Given the description of an element on the screen output the (x, y) to click on. 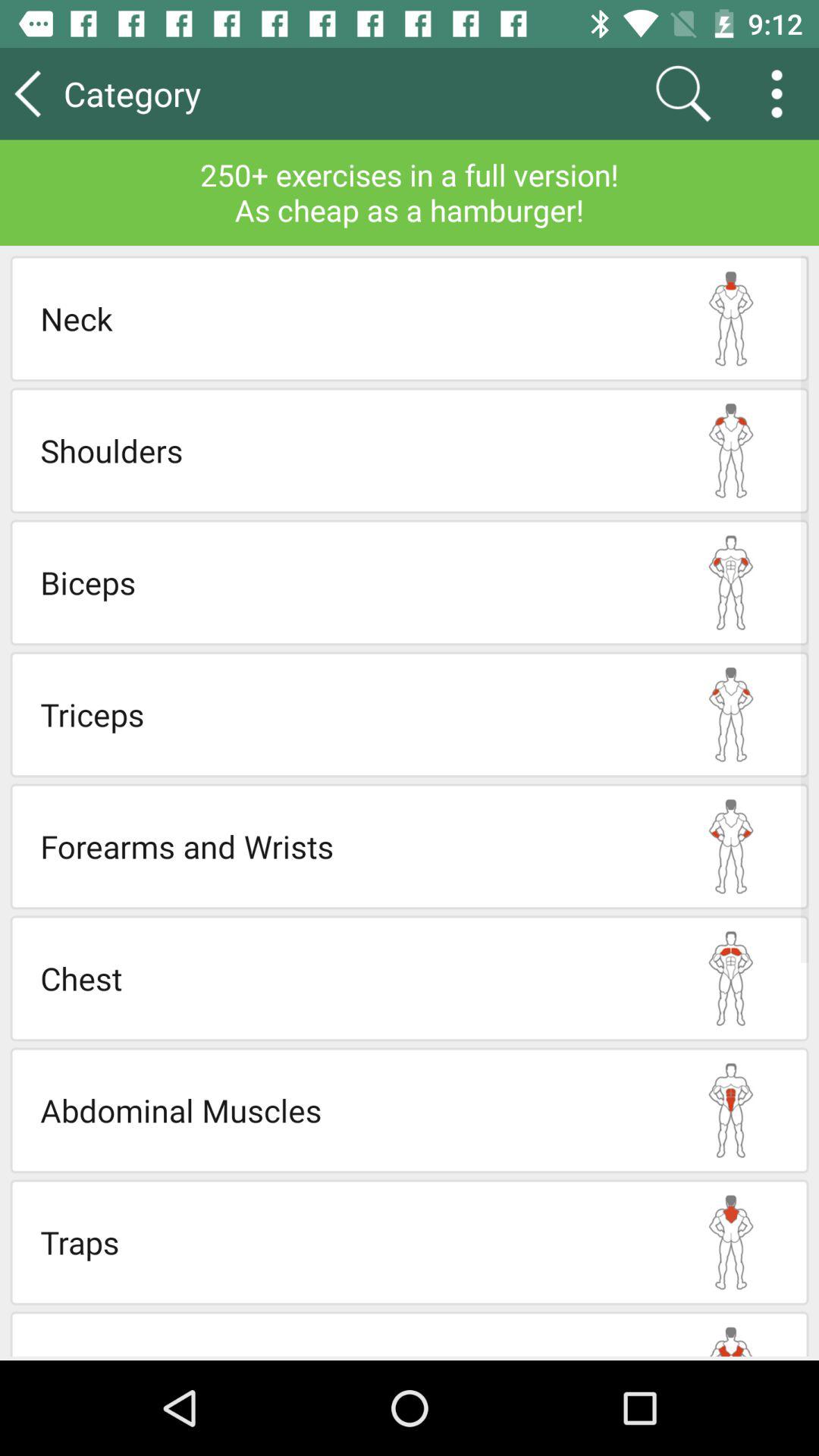
flip to biceps (346, 582)
